Given the description of an element on the screen output the (x, y) to click on. 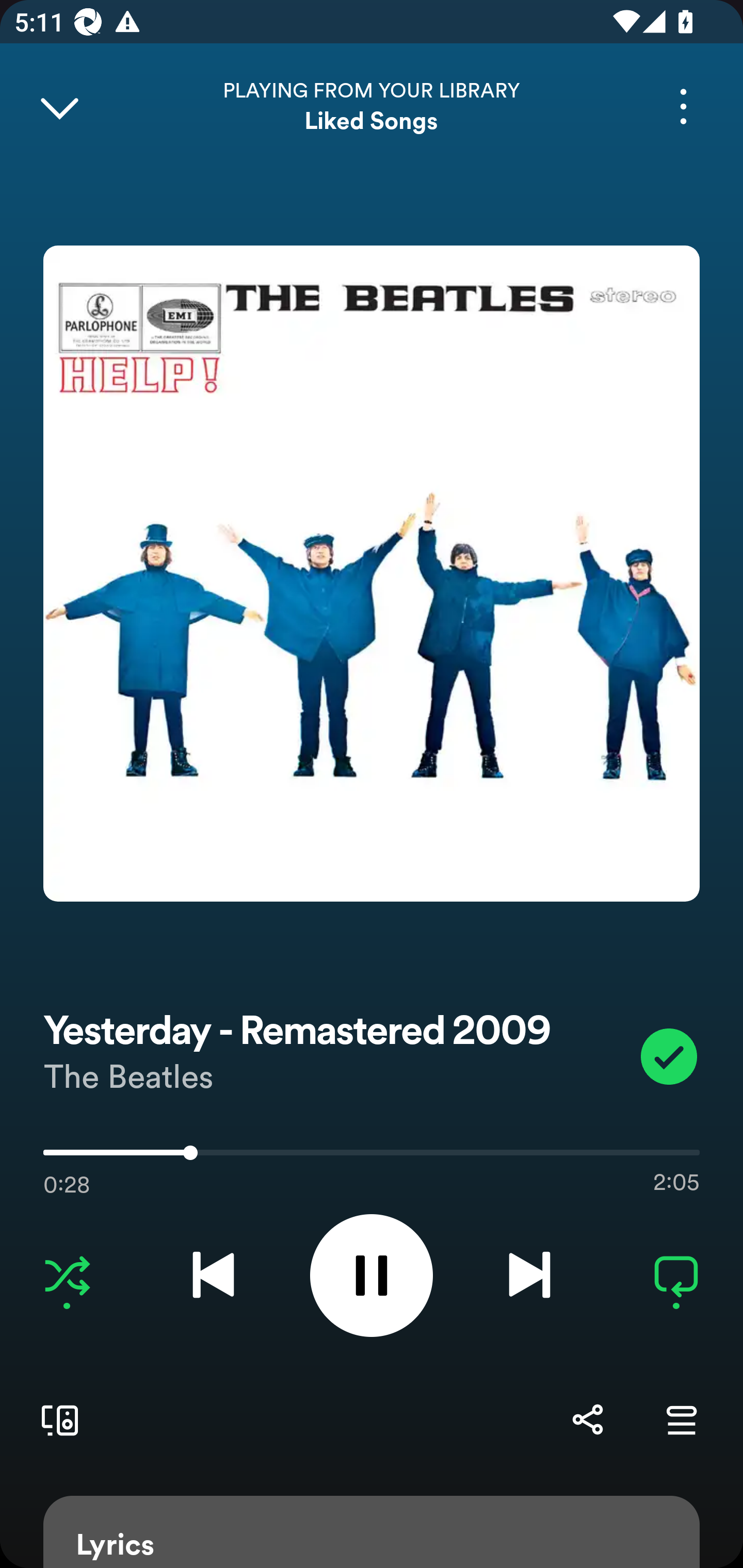
Close (59, 106)
More options for song Yesterday - Remastered 2009 (683, 106)
PLAYING FROM YOUR LIBRARY Liked Songs (371, 106)
Item added (669, 1056)
0:28 2:05 28010.0 Use volume keys to adjust (371, 1157)
Pause (371, 1275)
Previous (212, 1275)
Next (529, 1275)
Stop shuffling tracks (66, 1275)
Repeat (676, 1275)
Share (587, 1419)
Go to Queue (681, 1419)
Connect to a device. Opens the devices menu (55, 1419)
Lyrics (371, 1531)
